Given the description of an element on the screen output the (x, y) to click on. 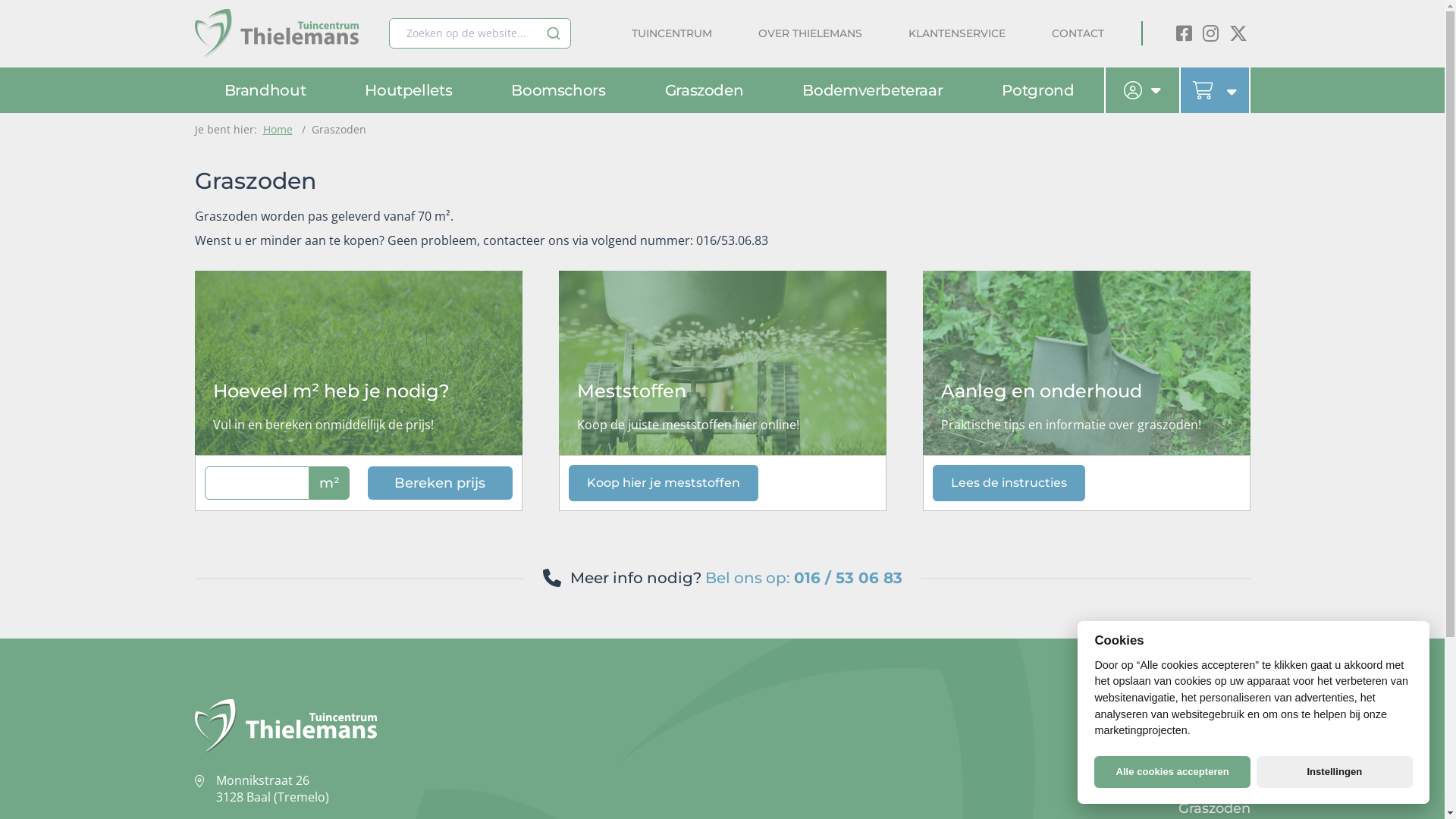
Zoeken op de website... Element type: text (479, 33)
Houtpellets Element type: text (408, 89)
Instellingen Element type: text (1334, 771)
OVER THIELEMANS Element type: text (810, 32)
Boomschors Element type: text (1207, 759)
Houtpellets Element type: text (1210, 735)
Bodemverbeteraar Element type: text (1185, 783)
Brandhout Element type: text (264, 89)
Bereken prijs Element type: text (439, 482)
Bel ons op: 016 / 53 06 83 Element type: text (803, 577)
Home Element type: text (276, 129)
TUINCENTRUM Element type: text (670, 32)
Brandhout Element type: text (1213, 710)
Potgrond Element type: text (1037, 89)
Graszoden Element type: text (337, 129)
Alle cookies accepteren Element type: text (1172, 771)
Boomschors Element type: text (557, 89)
Graszoden Element type: text (704, 89)
CONTACT Element type: text (1086, 32)
Graszoden Element type: text (1214, 808)
Koop hier je meststoffen Element type: text (663, 482)
Bodemverbeteraar Element type: text (872, 89)
cart Element type: hover (1214, 89)
KLANTENSERVICE Element type: text (956, 32)
Lees de instructies Element type: text (1008, 482)
